Given the description of an element on the screen output the (x, y) to click on. 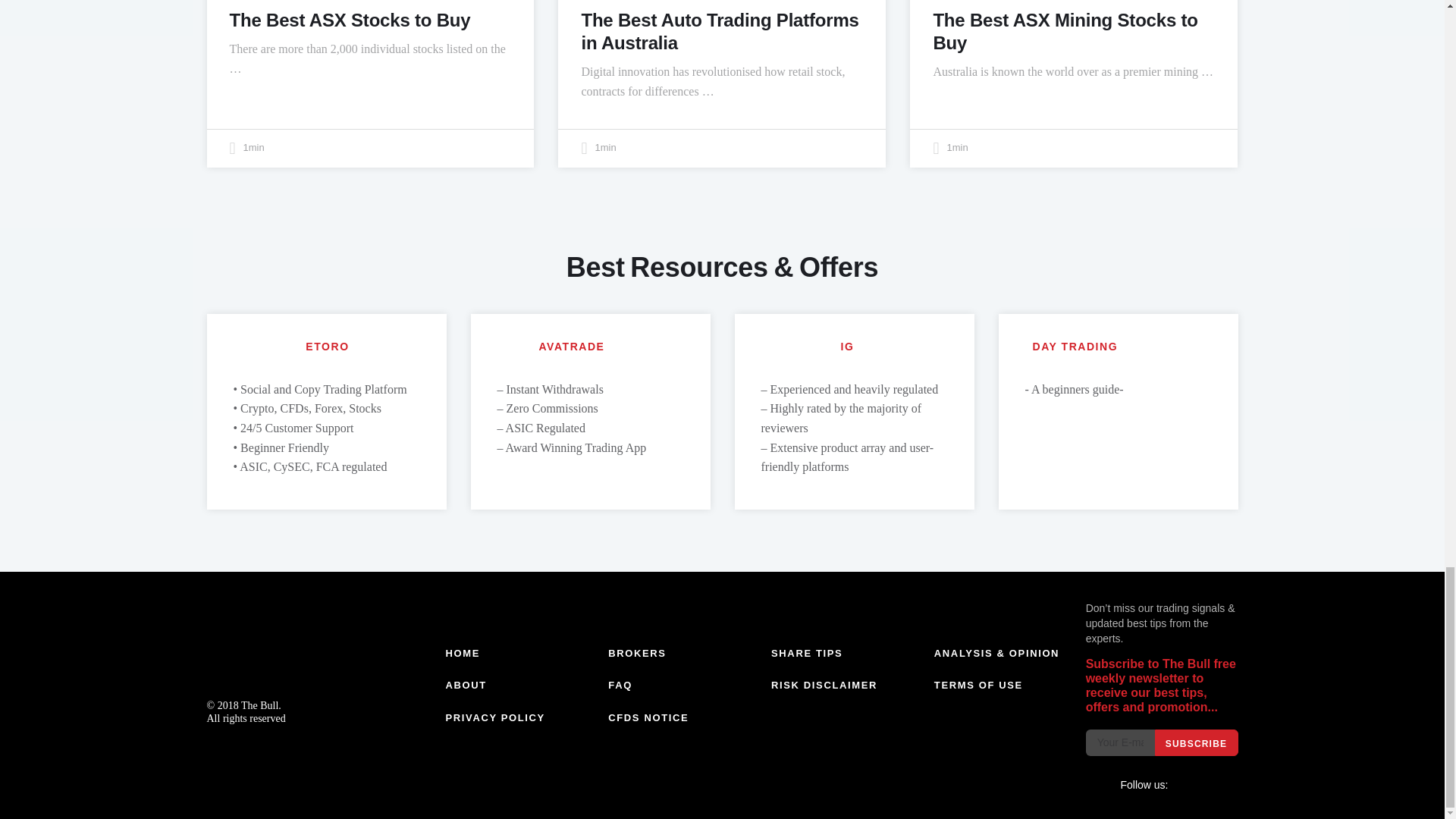
The Best ASX Stocks to Buy (349, 19)
The Best Auto Trading Platforms in Australia (719, 31)
The Best ASX Mining Stocks to Buy (1064, 31)
Subscribe (1195, 742)
